Given the description of an element on the screen output the (x, y) to click on. 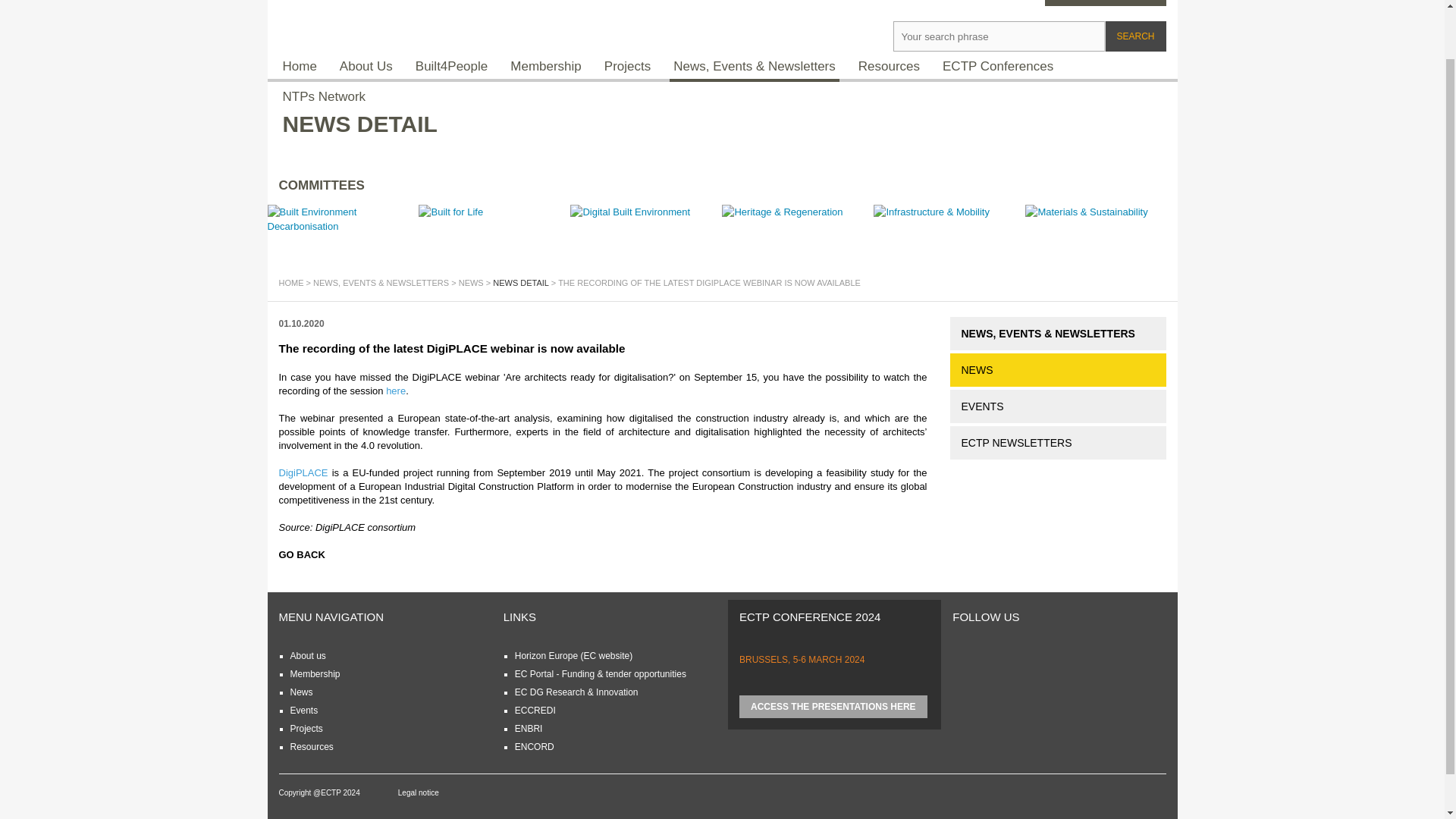
Built Environment Decarbonisation (342, 223)
Digital Built Environment (646, 223)
Home (291, 282)
Opens internal link in current window (314, 674)
Built4People (452, 66)
Search (1135, 36)
Home (299, 66)
Opens internal link in current window (301, 692)
Built for Life (488, 221)
Opens external link in new window (304, 472)
